Given the description of an element on the screen output the (x, y) to click on. 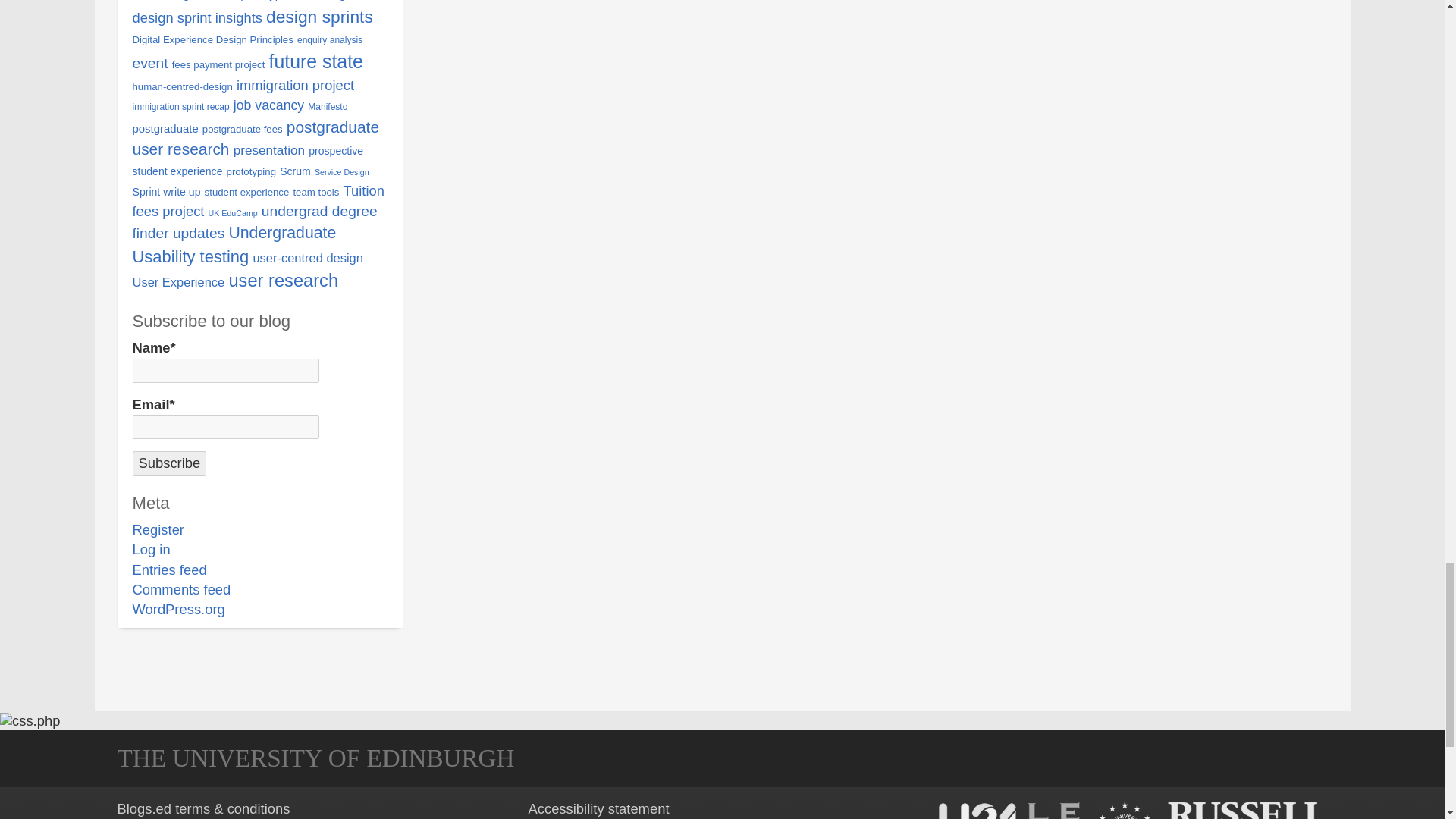
Subscribe (169, 463)
